Given the description of an element on the screen output the (x, y) to click on. 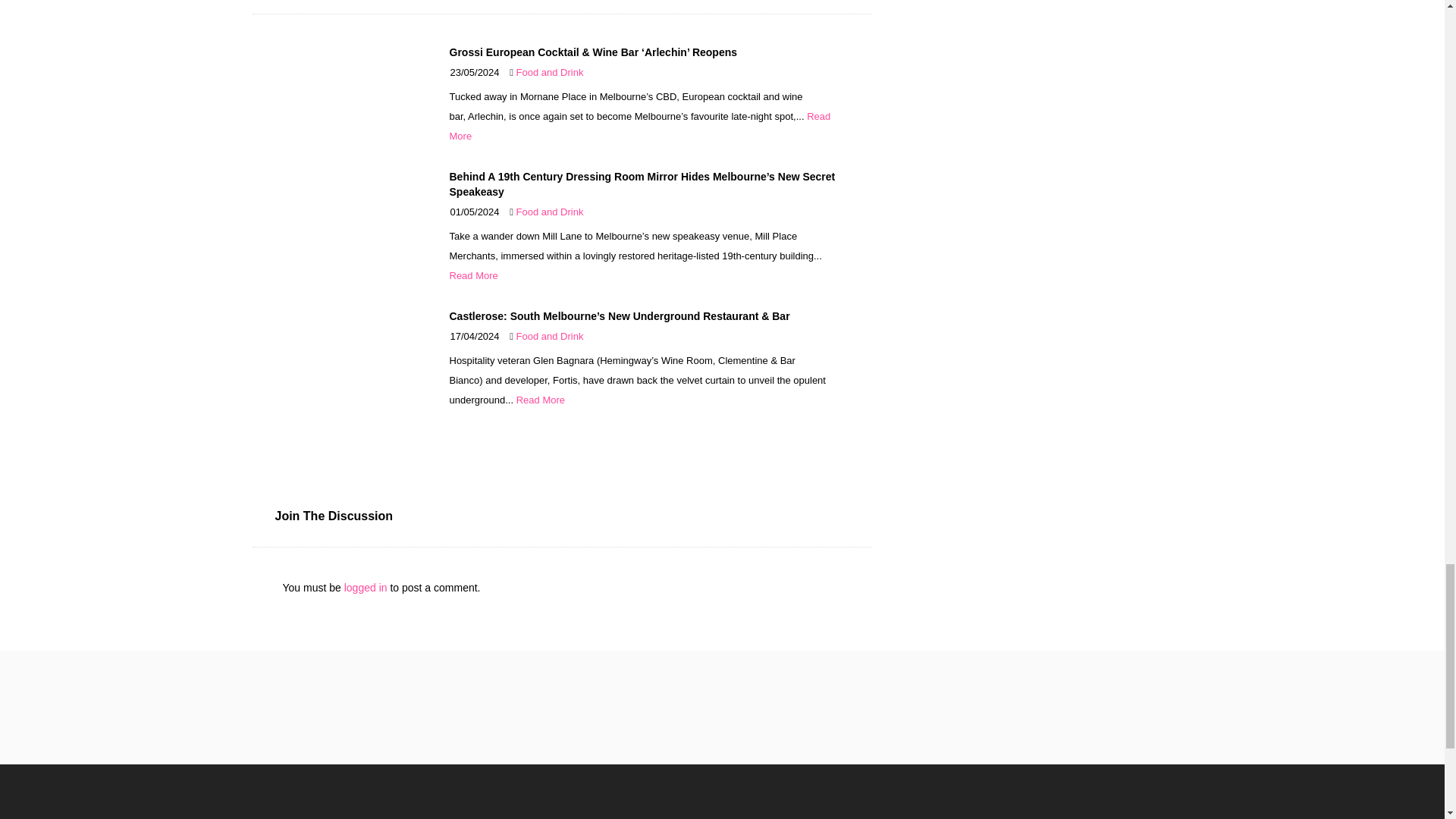
Food and Drink (549, 211)
Read More (472, 275)
Read More (638, 125)
Food and Drink (549, 71)
